Given the description of an element on the screen output the (x, y) to click on. 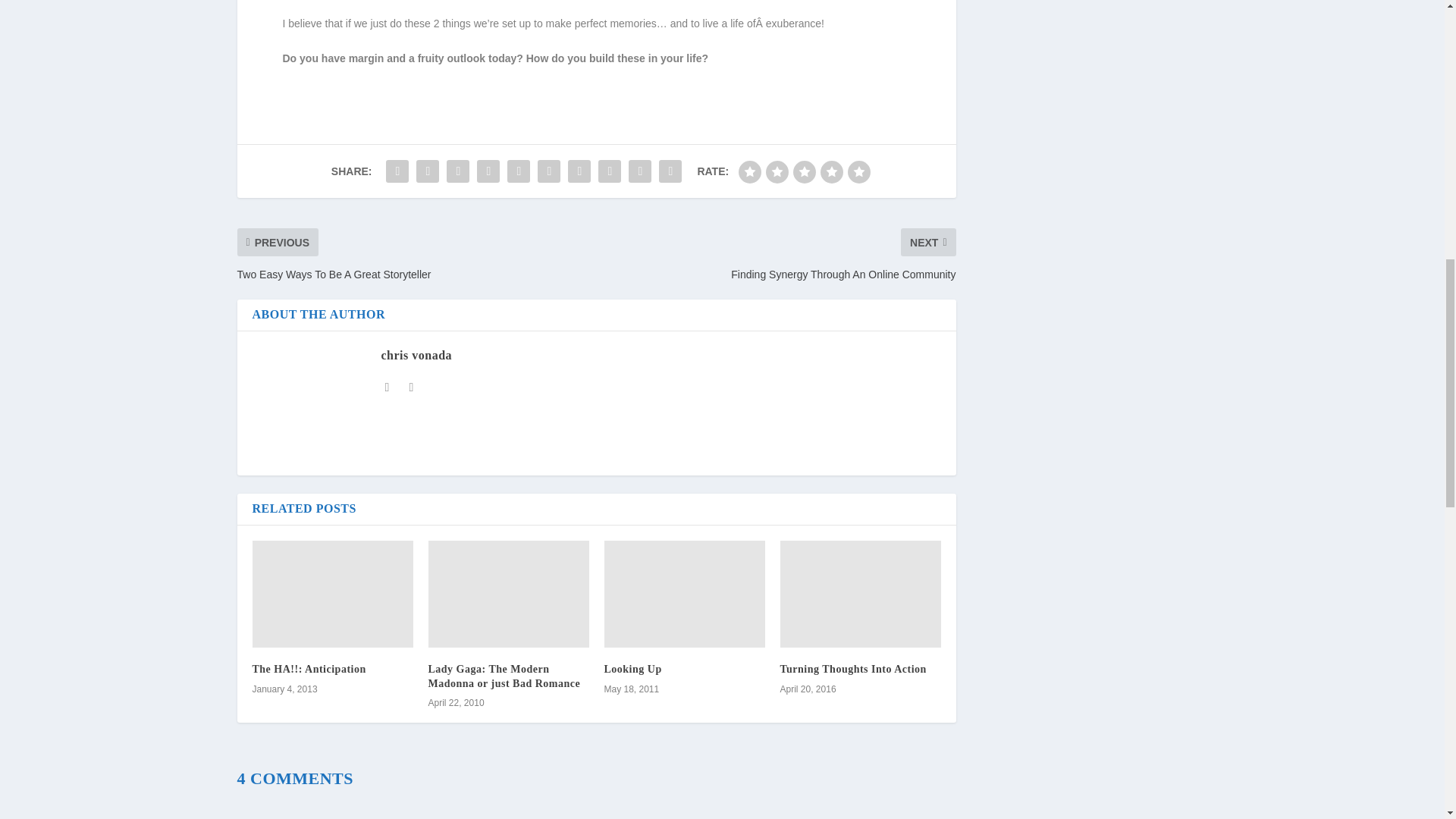
Share "How To Make A Perfect Memory" via Pinterest (518, 171)
Share "How To Make A Perfect Memory" via LinkedIn (549, 171)
Share "How To Make A Perfect Memory" via Tumblr (488, 171)
Share "How To Make A Perfect Memory" via Facebook (396, 171)
Share "How To Make A Perfect Memory" via Twitter (427, 171)
